Given the description of an element on the screen output the (x, y) to click on. 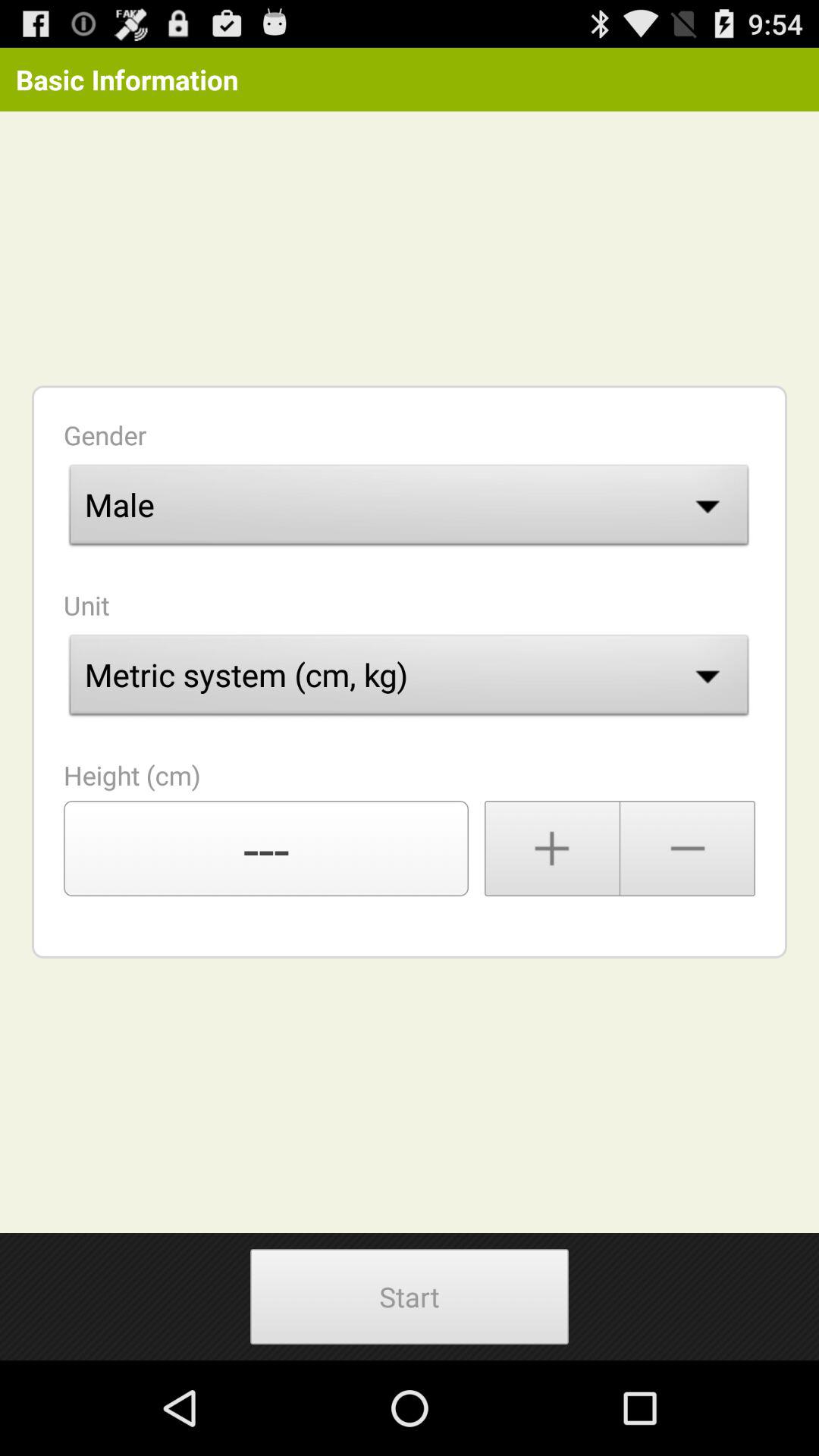
jump until the --- (265, 848)
